Given the description of an element on the screen output the (x, y) to click on. 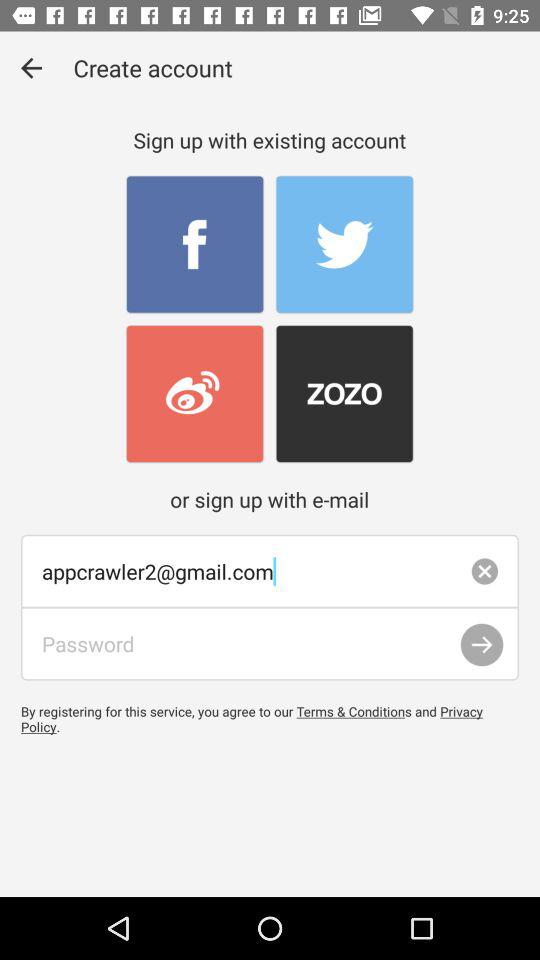
click the item below or sign up (270, 571)
